Given the description of an element on the screen output the (x, y) to click on. 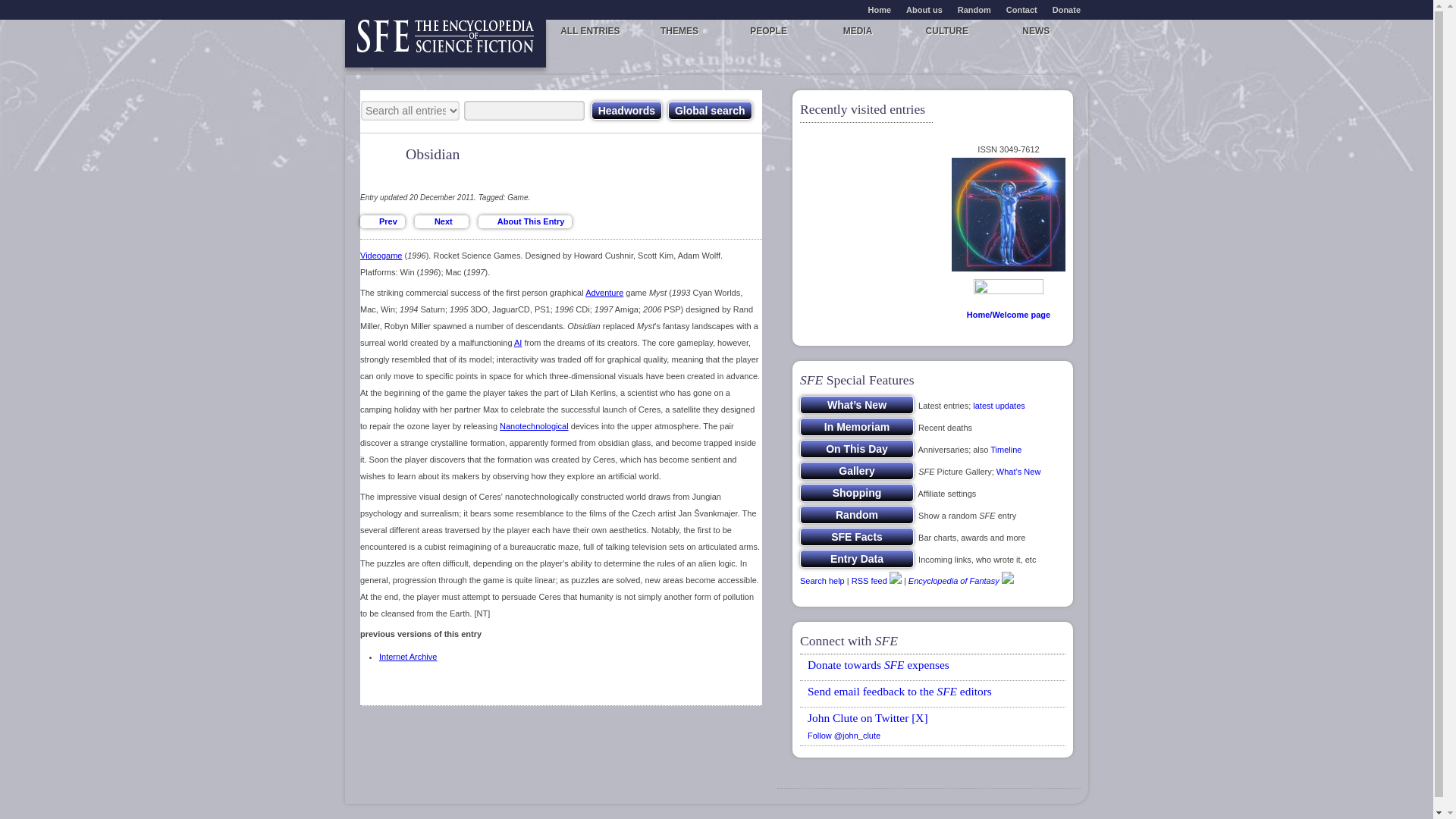
Search help (821, 580)
ALL ENTRIES (590, 30)
Shopping (856, 493)
SFE Facts (856, 536)
Send email feedback to the SFE editors (899, 690)
Entry Data (856, 558)
On This Day (856, 448)
Timeline (1006, 449)
CULTURE (946, 30)
Home (879, 9)
